Given the description of an element on the screen output the (x, y) to click on. 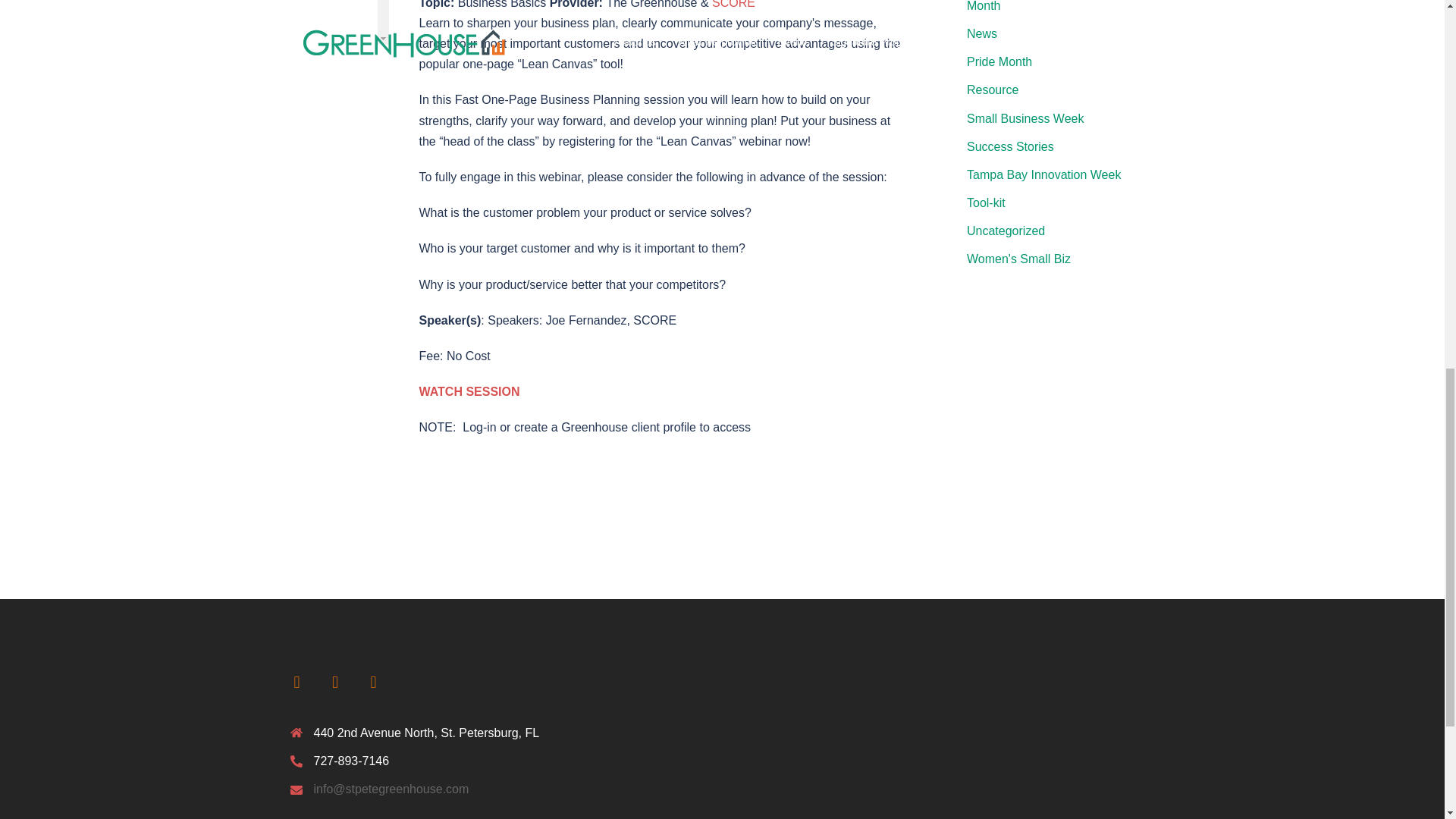
Facebook (296, 680)
Twitter (334, 680)
Instagram (372, 680)
